Given the description of an element on the screen output the (x, y) to click on. 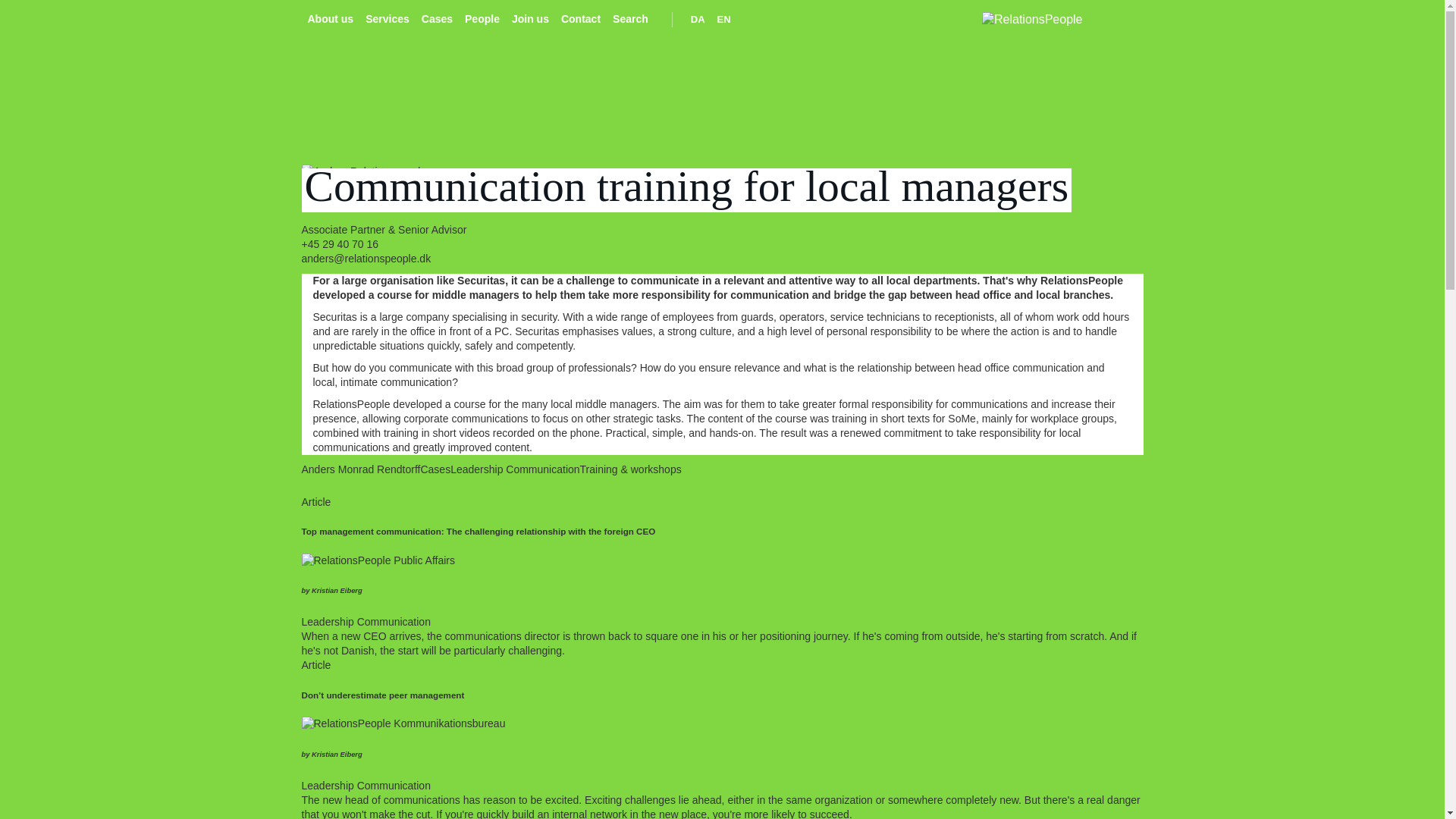
Leadership Communication (514, 469)
Contact (580, 18)
Services (386, 18)
Join us (529, 18)
People (481, 18)
Dansk (697, 18)
Search (630, 18)
Securitas (334, 316)
EN (723, 18)
photo-1523875194681-bedd468c58bf (378, 560)
Join us (529, 18)
English (723, 18)
Contact (580, 18)
Anders Monrad Rendtorff (355, 200)
Toplederkom (403, 723)
